Given the description of an element on the screen output the (x, y) to click on. 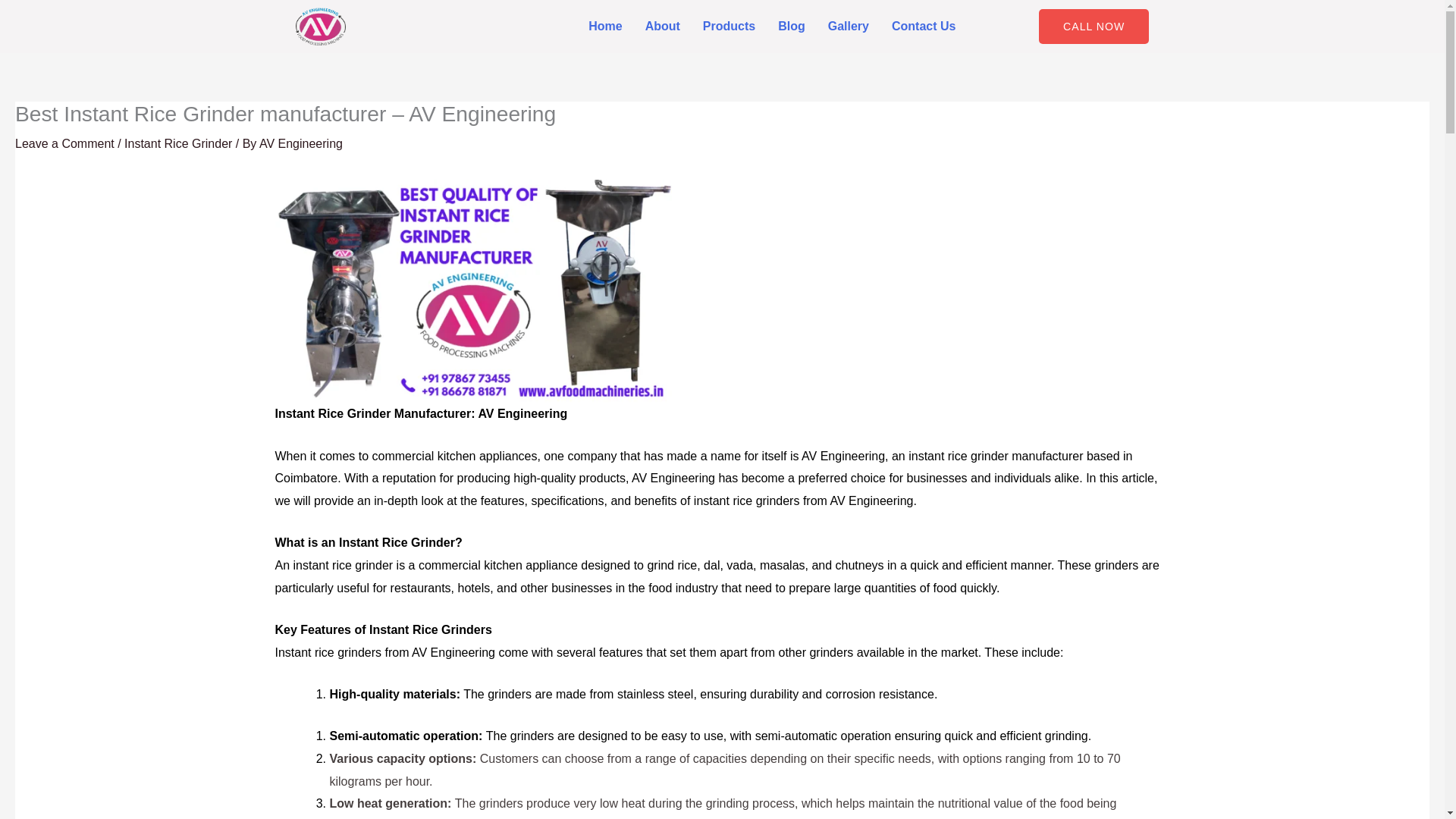
About (662, 26)
Home (604, 26)
Blog (791, 26)
View all posts by AV Engineering (300, 143)
Leave a Comment (64, 143)
Instant Rice Grinder (177, 143)
AV Engineering (300, 143)
Gallery (848, 26)
Products (729, 26)
CALL NOW (1093, 26)
